Given the description of an element on the screen output the (x, y) to click on. 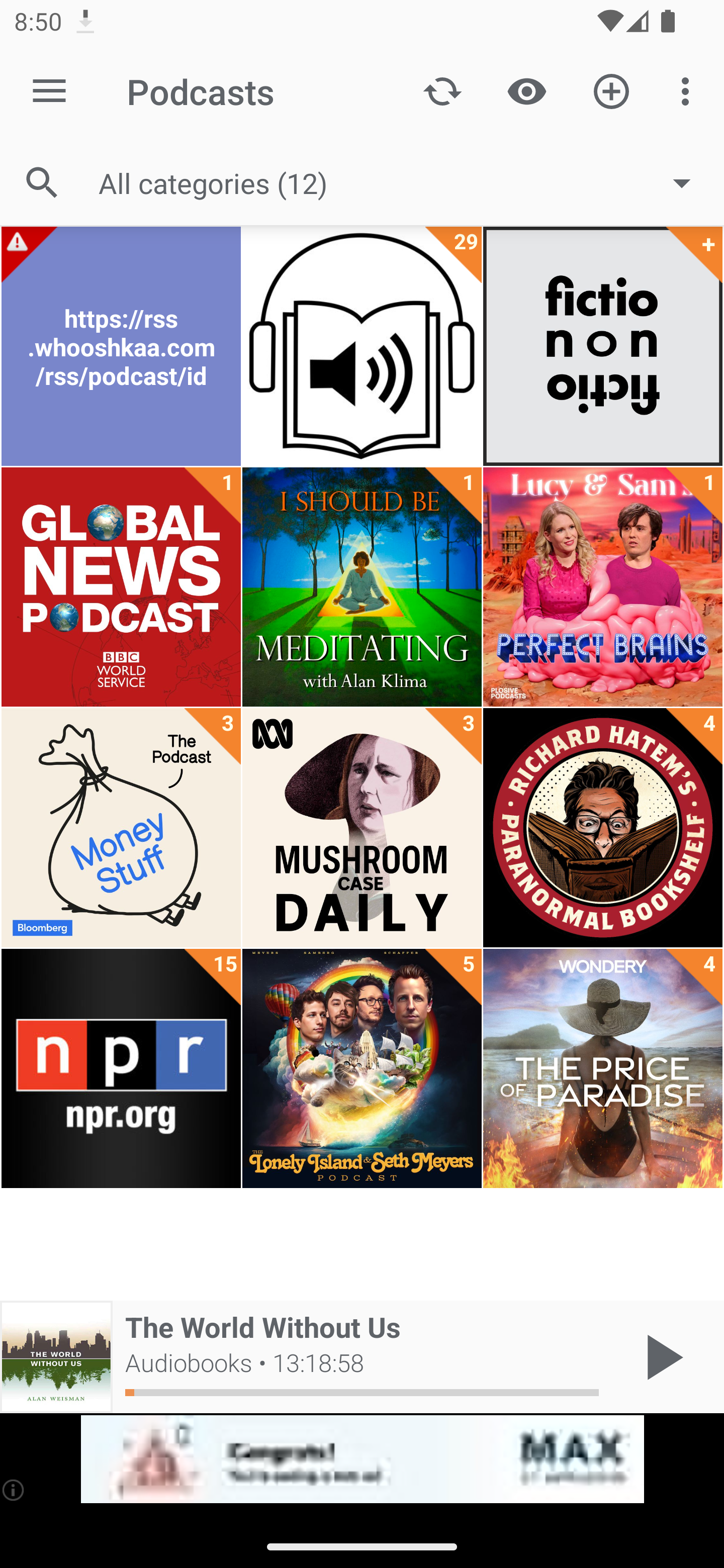
Open navigation sidebar (49, 91)
Update (442, 90)
Show / Hide played content (526, 90)
Add new Podcast (611, 90)
More options (688, 90)
Search (42, 183)
All categories (12) (404, 182)
https://rss.whooshkaa.com/rss/podcast/id/5884 (121, 346)
Audiobooks 29 (361, 346)
fiction/non/fiction + (602, 346)
Global News Podcast 1 (121, 587)
Lucy & Sam's Perfect Brains 1 (602, 587)
Money Stuff: The Podcast 3 (121, 827)
Mushroom Case Daily 3 (361, 827)
Richard Hatem's Paranormal Bookshelf 4 (602, 827)
Stories from NPR : NPR 15 (121, 1068)
The Lonely Island and Seth Meyers Podcast 5 (361, 1068)
The Price of Paradise 4 (602, 1068)
Play / Pause (660, 1356)
app-monetization (362, 1459)
(i) (14, 1489)
